Given the description of an element on the screen output the (x, y) to click on. 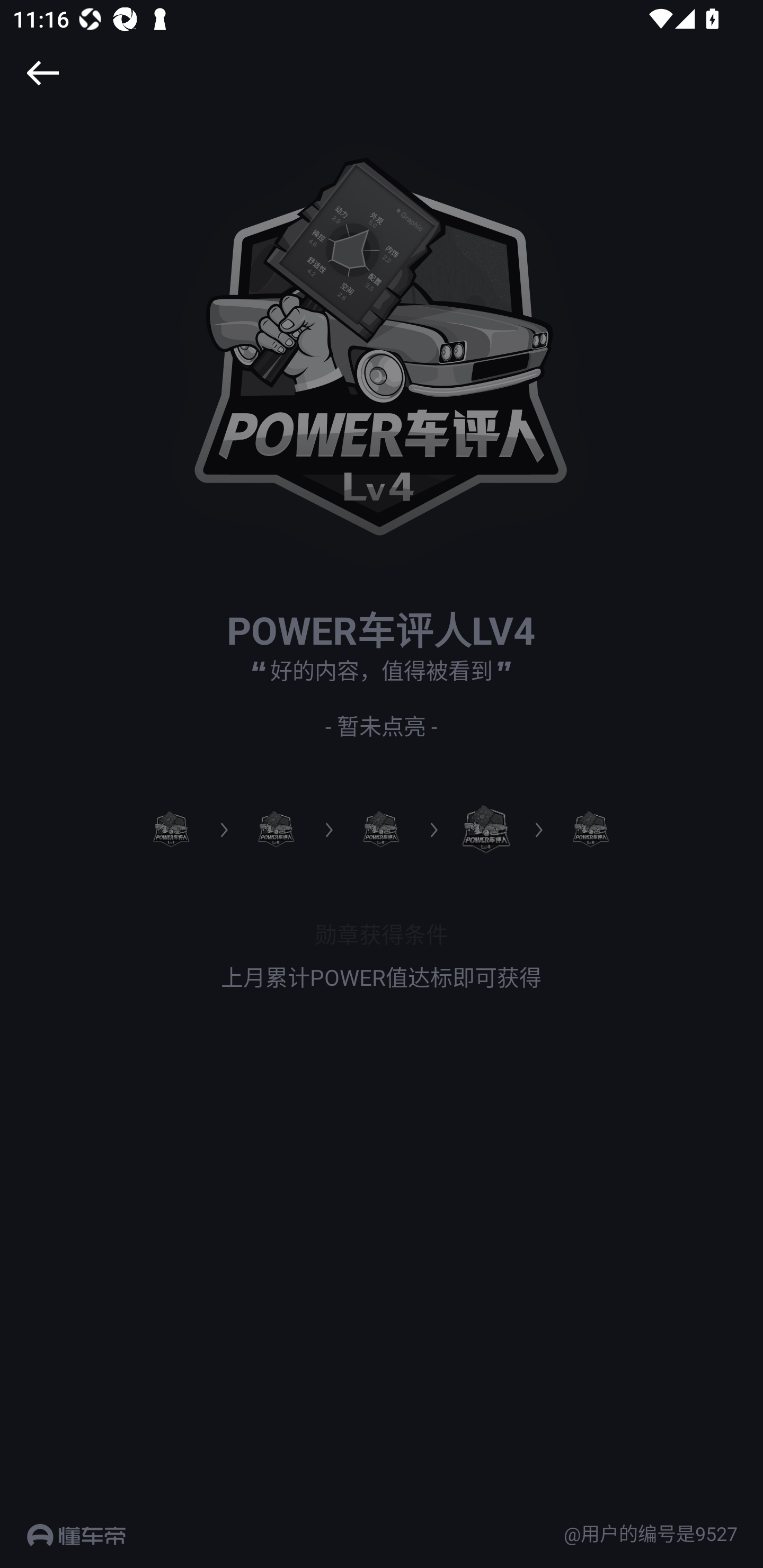
 (42, 72)
勋章获得条件 (381, 933)
上月累计POWER值达标即可获得 (381, 977)
